Given the description of an element on the screen output the (x, y) to click on. 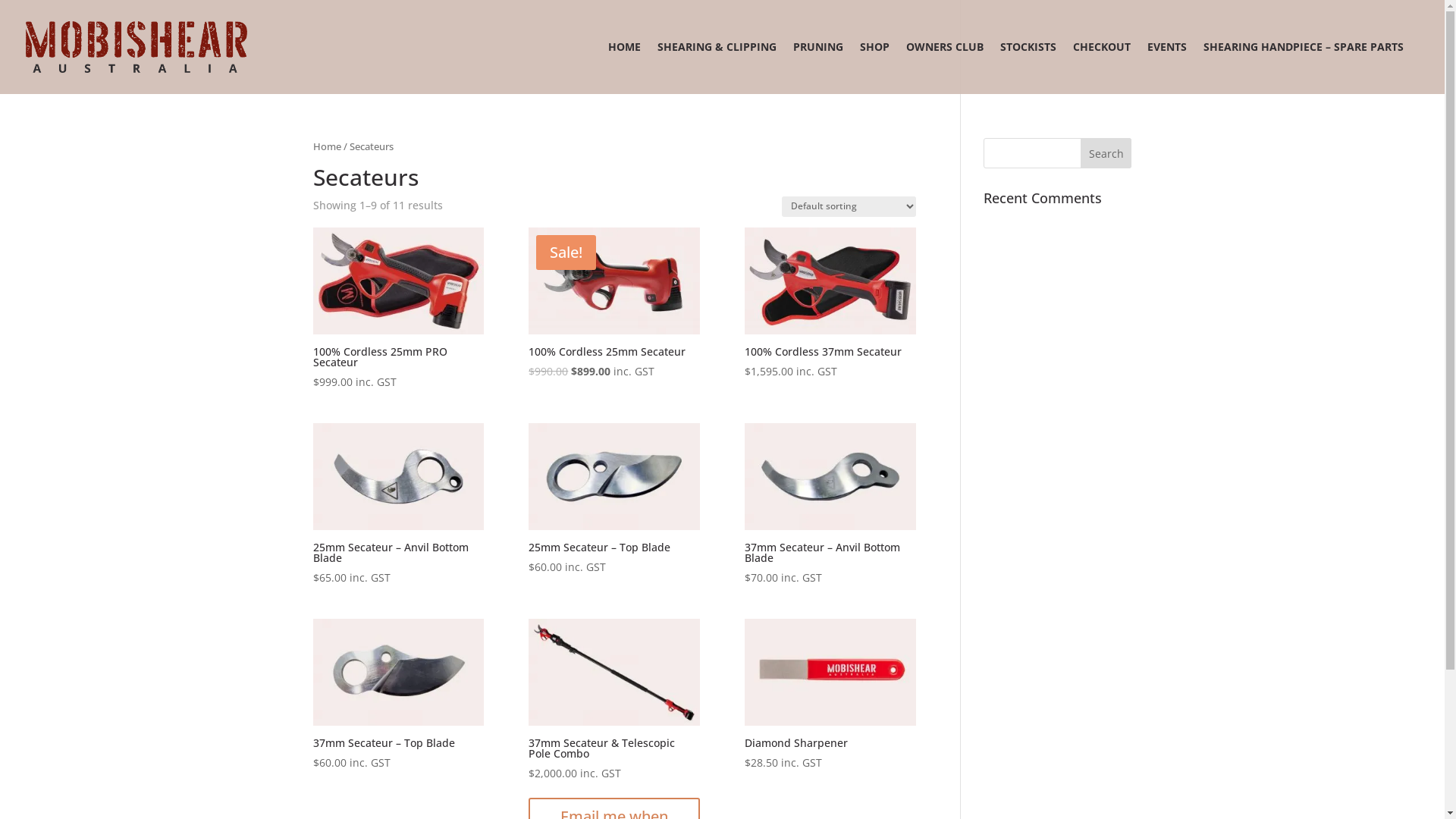
Sale!
100% Cordless 25mm Secateur
$990.00 $899.00 inc. GST Element type: text (613, 303)
Diamond Sharpener
$28.50 inc. GST Element type: text (829, 694)
OWNERS CLUB Element type: text (944, 67)
Search Element type: text (1106, 153)
PRUNING Element type: text (818, 67)
CHECKOUT Element type: text (1101, 67)
37mm Secateur & Telescopic Pole Combo
$2,000.00 inc. GST Element type: text (613, 700)
HOME Element type: text (624, 67)
100% Cordless 25mm PRO Secateur
$999.00 inc. GST Element type: text (397, 309)
Home Element type: text (326, 146)
100% Cordless 37mm Secateur
$1,595.00 inc. GST Element type: text (829, 303)
SHEARING & CLIPPING Element type: text (716, 67)
STOCKISTS Element type: text (1028, 67)
EVENTS Element type: text (1166, 67)
SHOP Element type: text (874, 67)
